Given the description of an element on the screen output the (x, y) to click on. 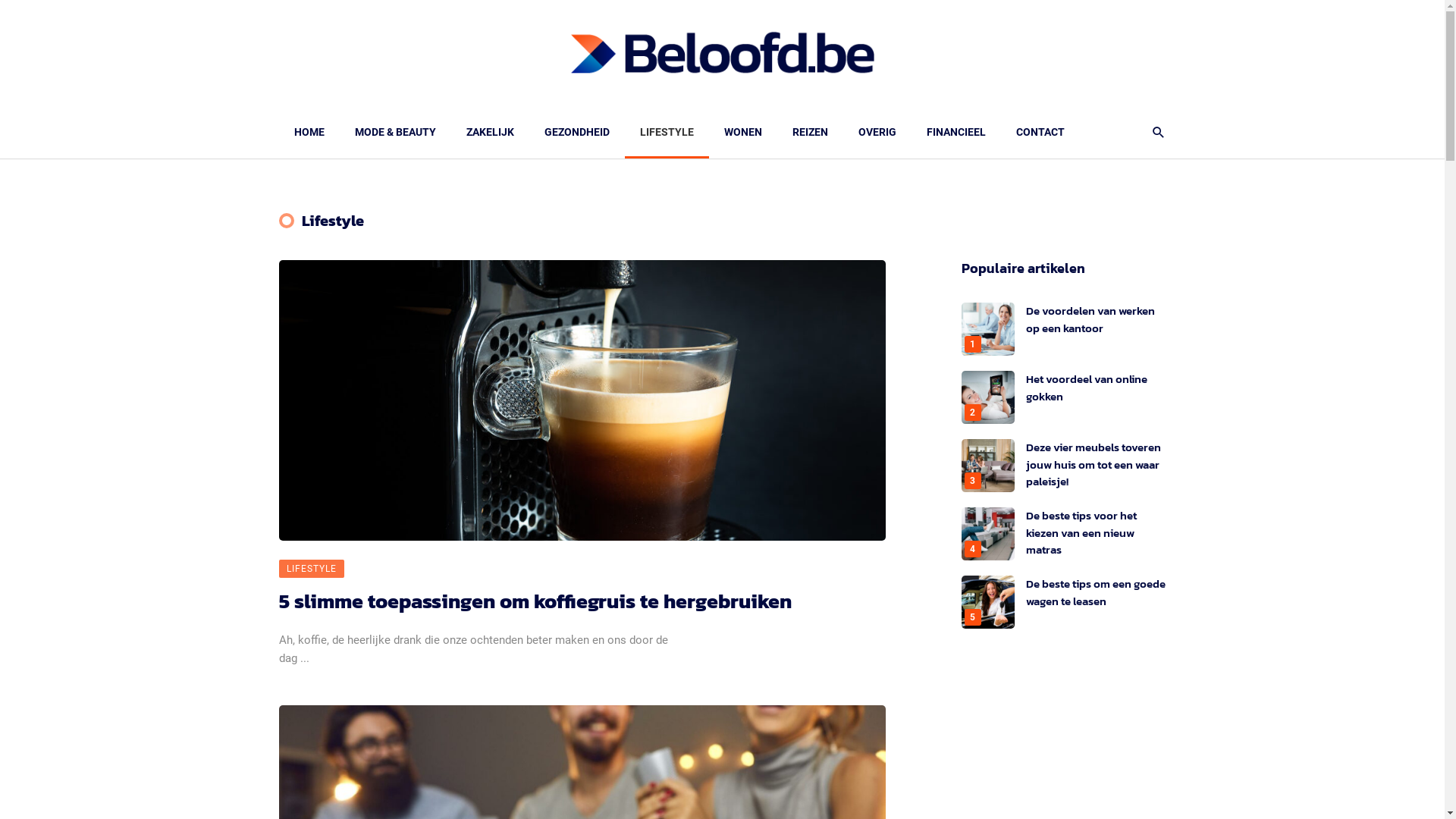
CONTACT Element type: text (1040, 131)
De voordelen van werken op een kantoor Element type: text (1089, 318)
OVERIG Element type: text (877, 131)
ZAKELIJK Element type: text (489, 131)
REIZEN Element type: text (809, 131)
FINANCIEEL Element type: text (956, 131)
Het voordeel van online gokken Element type: text (1085, 387)
GEZONDHEID Element type: text (576, 131)
WONEN Element type: text (742, 131)
LIFESTYLE Element type: text (666, 131)
De beste tips om een goede wagen te leasen Element type: text (1094, 591)
MODE & BEAUTY Element type: text (395, 131)
HOME Element type: text (309, 131)
5 slimme toepassingen om koffiegruis te hergebruiken Element type: text (535, 600)
LIFESTYLE Element type: text (311, 568)
De beste tips voor het kiezen van een nieuw matras Element type: text (1080, 532)
